Given the description of an element on the screen output the (x, y) to click on. 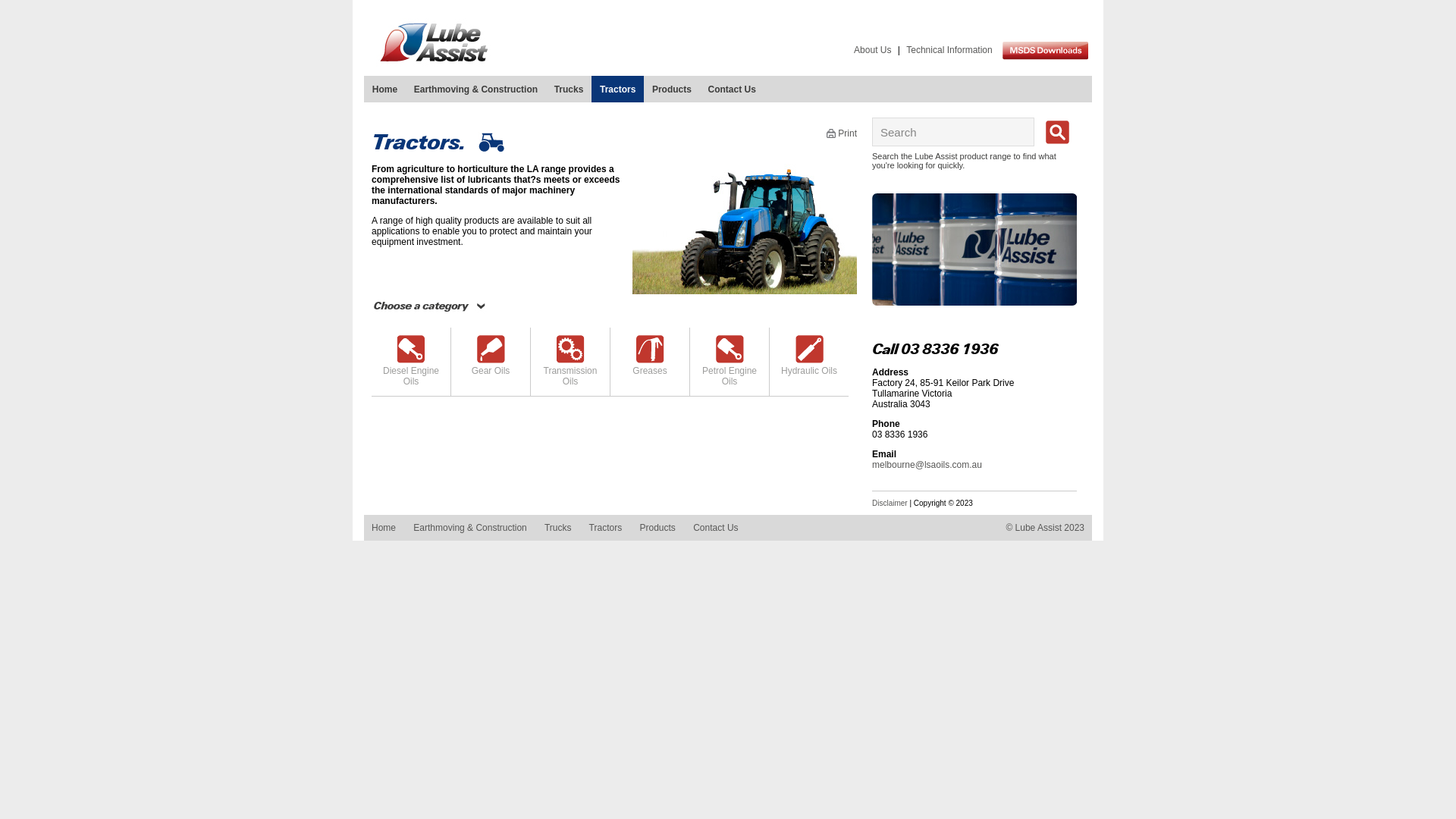
Tractors Element type: text (605, 527)
Transmission Oils Element type: text (569, 365)
Products Element type: text (656, 527)
Home Element type: text (384, 88)
Hydraulic Oils Element type: text (808, 365)
Contact Us Element type: text (715, 527)
Home Element type: text (383, 527)
Contact Us Element type: text (731, 88)
About Us Element type: text (872, 49)
Technical Information Element type: text (948, 49)
Tractors Element type: text (617, 88)
Print Element type: text (841, 133)
Diesel Engine Oils Element type: text (410, 365)
Trucks Element type: text (568, 88)
Petrol Engine Oils Element type: text (729, 365)
Disclaimer Element type: text (890, 502)
Greases Element type: text (649, 365)
Products Element type: text (671, 88)
Gear Oils Element type: text (490, 365)
Trucks Element type: text (557, 527)
Earthmoving & Construction Element type: text (469, 527)
Earthmoving & Construction Element type: text (475, 88)
melbourne@lsaoils.com.au Element type: text (927, 464)
